Given the description of an element on the screen output the (x, y) to click on. 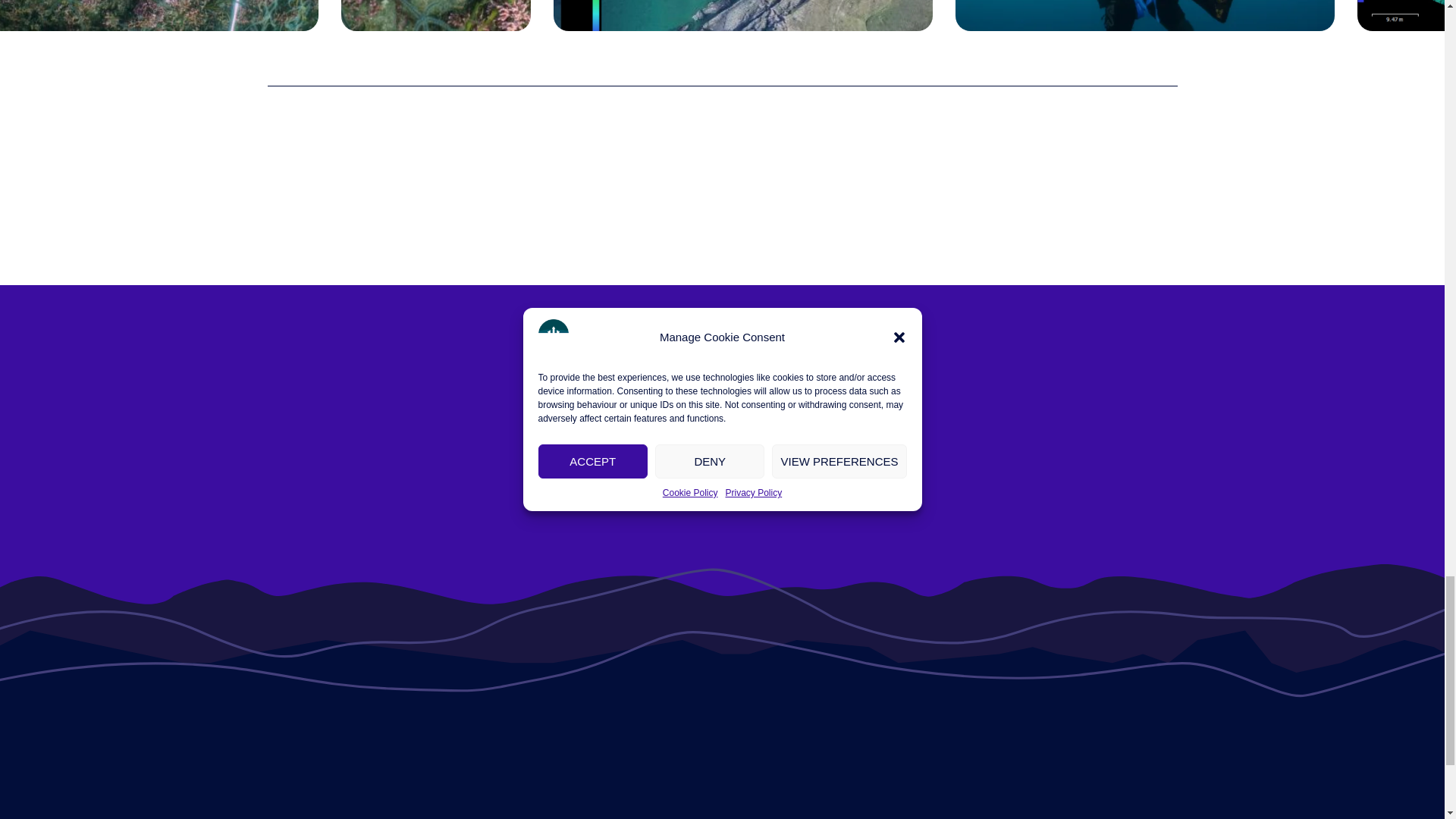
62acef4569f4375511d8aad0029c2bb9 - tritonia (435, 15)
Machir bay basemap - tritonia (743, 15)
C5b2237894e9a4524472e9d9546ad59d - tritonia (159, 15)
